Given the description of an element on the screen output the (x, y) to click on. 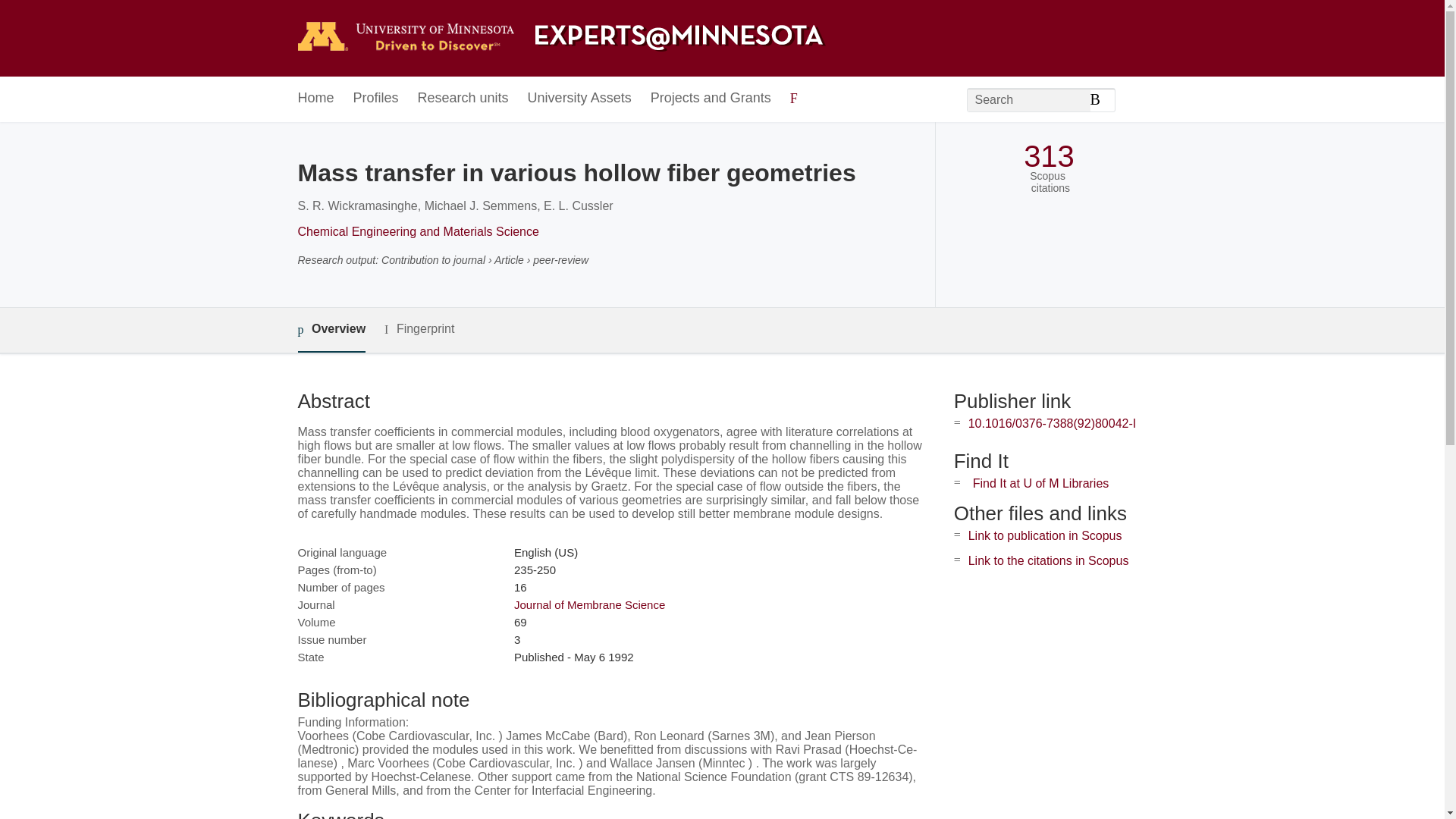
Research units (462, 98)
Journal of Membrane Science (589, 604)
313 (1048, 156)
Link to publication in Scopus (1045, 535)
Overview (331, 329)
University Assets (579, 98)
Find It at U of M Libraries (1040, 482)
Chemical Engineering and Materials Science (417, 231)
Projects and Grants (710, 98)
